Given the description of an element on the screen output the (x, y) to click on. 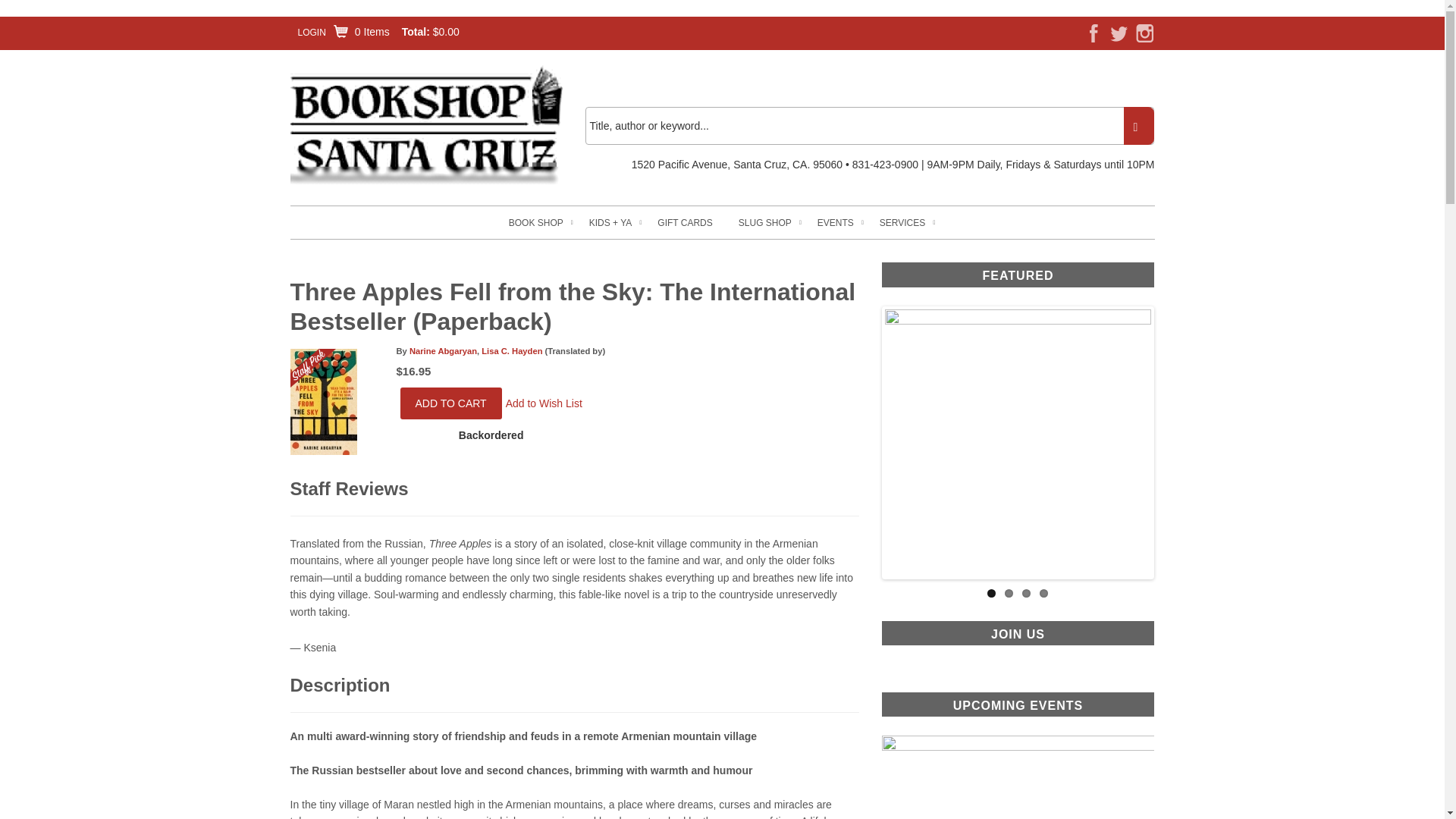
BOOK SHOP (535, 222)
Home (425, 124)
Add to Cart (451, 403)
Title, author or keyword... (869, 125)
LOGIN (311, 32)
